Given the description of an element on the screen output the (x, y) to click on. 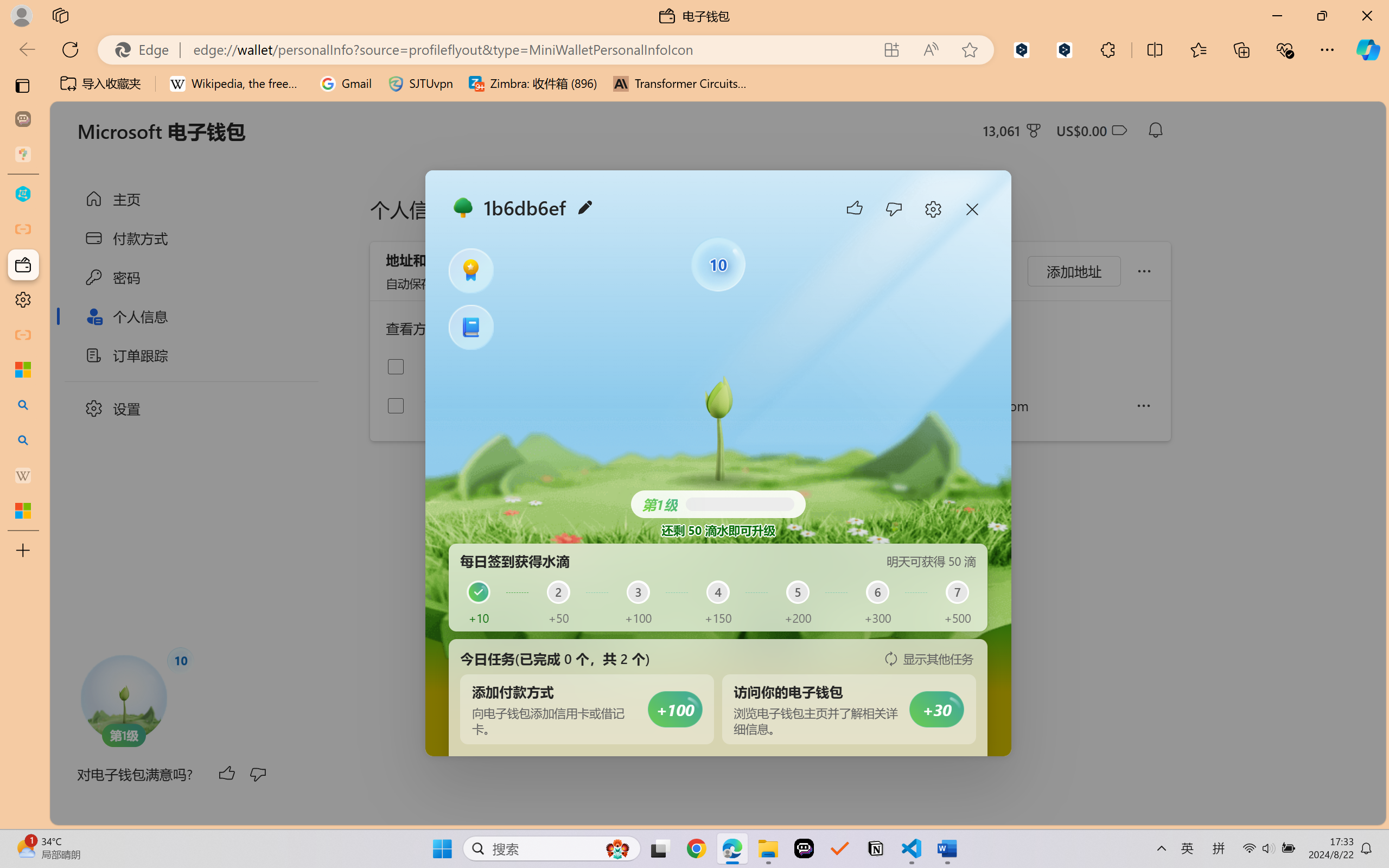
Wang Yian (478, 405)
+86 159 0032 4640 (832, 405)
